Given the description of an element on the screen output the (x, y) to click on. 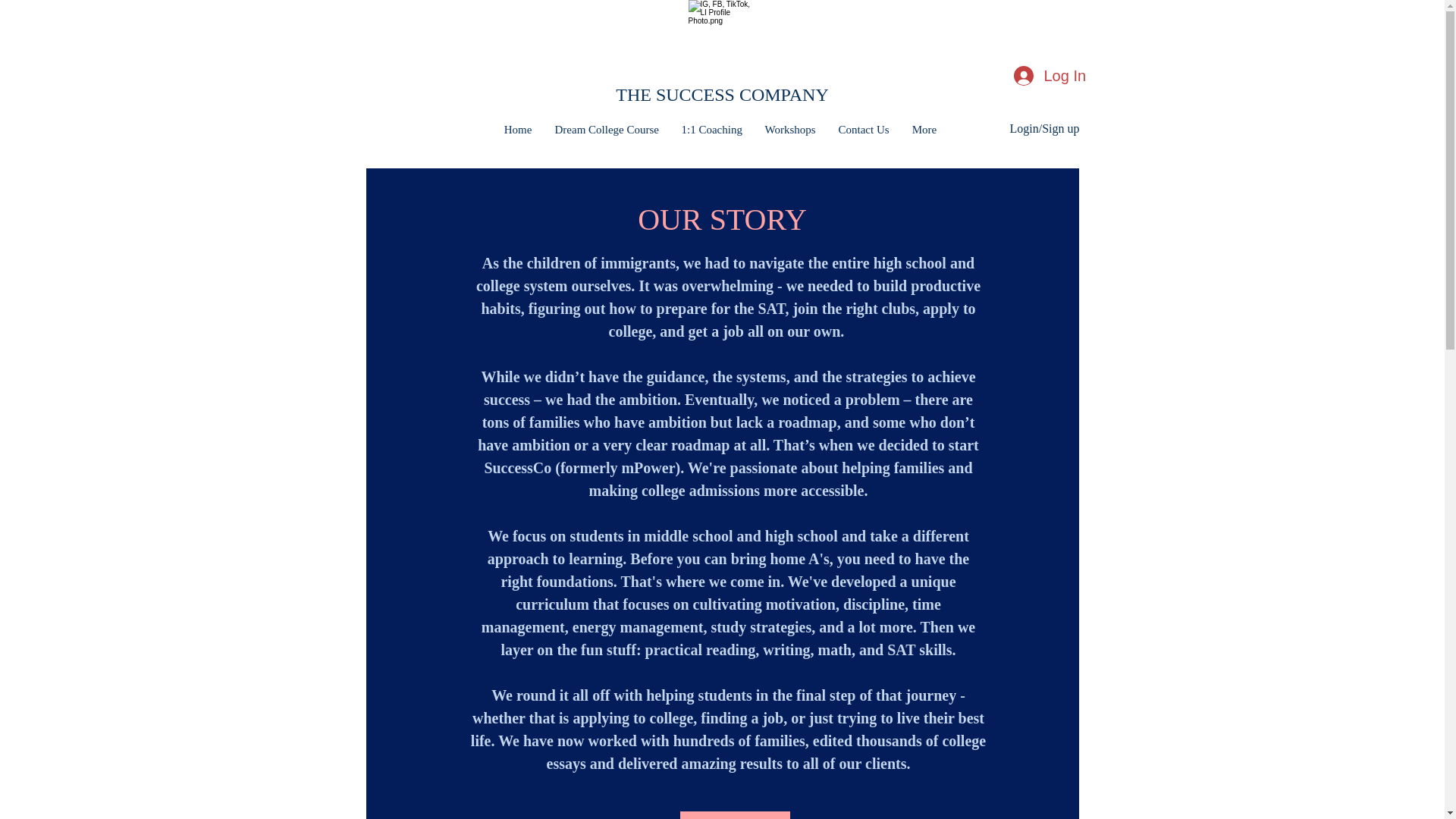
Log In (1048, 75)
Workshops (790, 128)
Contact Us (863, 128)
1:1 Coaching (711, 128)
Dream College Course (606, 128)
Home (518, 128)
